Given the description of an element on the screen output the (x, y) to click on. 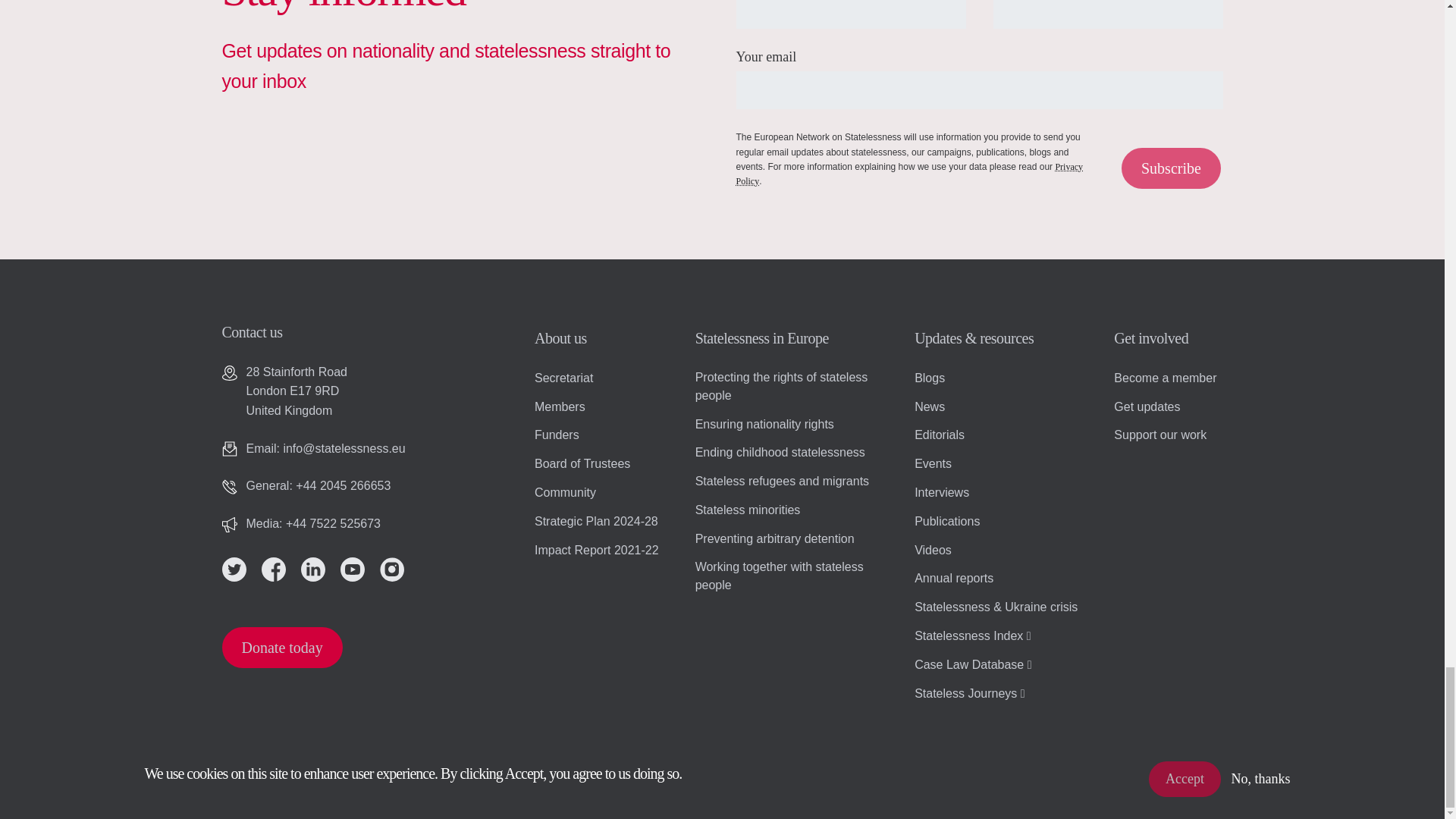
Stateless Journeys (987, 698)
Subscribe (1171, 168)
Expand menu About us (614, 341)
Expand menu Statelessness in Europe (805, 341)
